Given the description of an element on the screen output the (x, y) to click on. 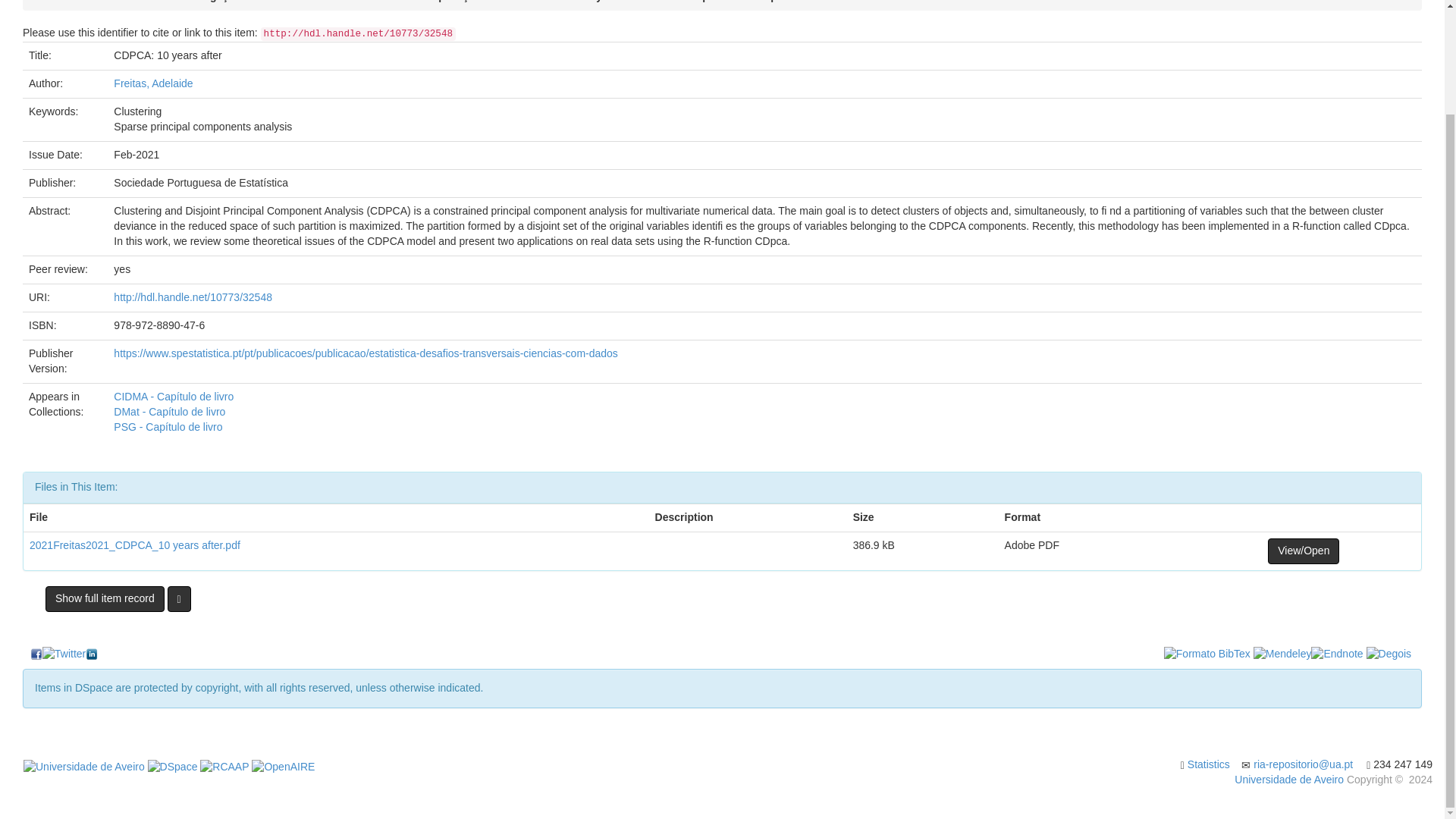
Partilhe no LinkedIn (91, 654)
Home (48, 1)
Exporte no formato Endnote (1336, 654)
Exporte no formato BibTex (1206, 654)
Partilhe no Facebook (36, 654)
Freitas, Adelaide (152, 82)
CIDMA - Probability and Statistics Group (606, 1)
Show full item record (104, 598)
Partilhe no Twitter (63, 654)
Adicione ao Mendeley (1282, 654)
